Given the description of an element on the screen output the (x, y) to click on. 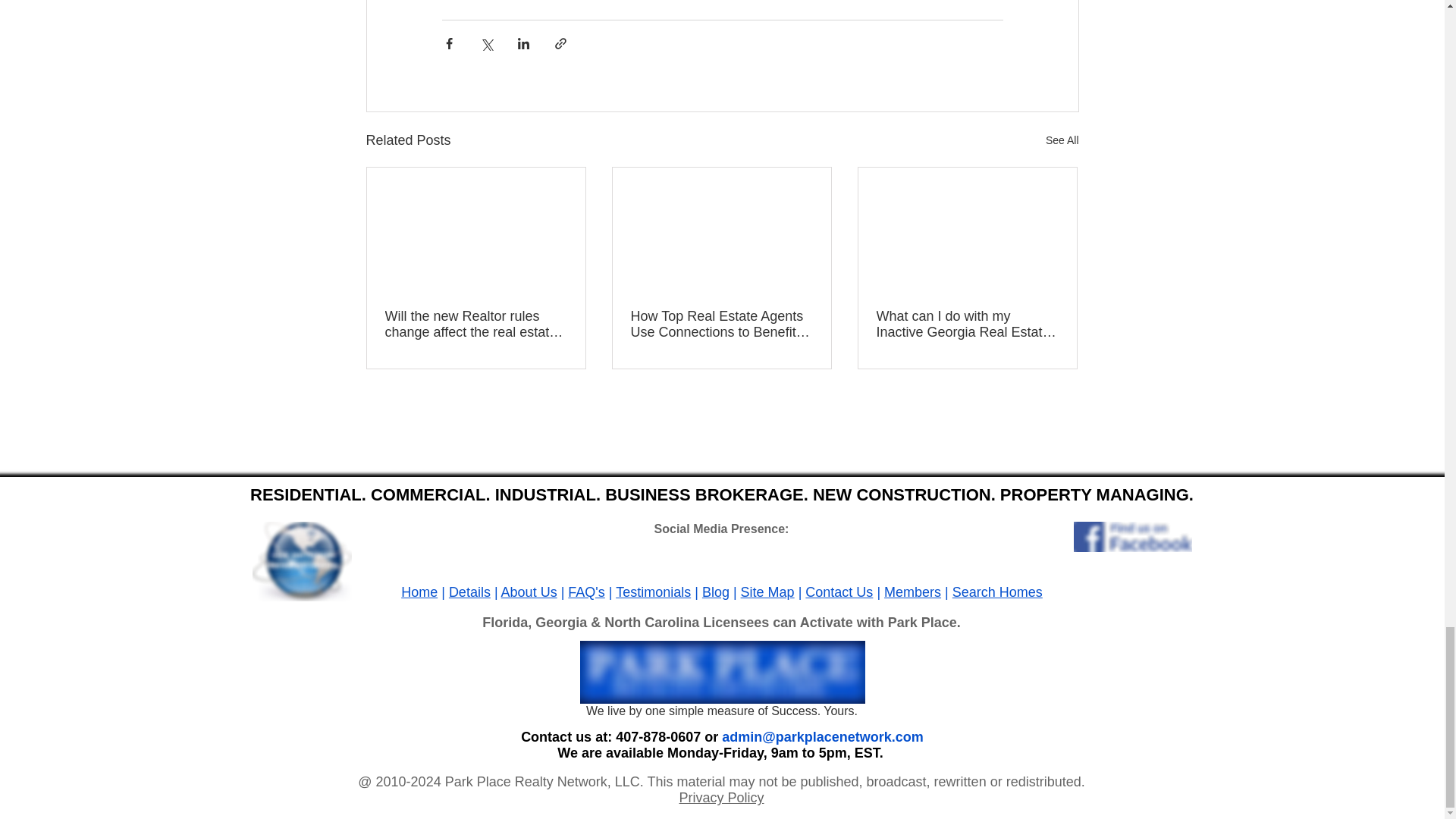
Details (469, 591)
FAQ's (585, 591)
Home (419, 591)
Testimonials (652, 591)
Blog (715, 591)
About Us (528, 591)
What can I do with my Inactive Georgia Real Estate License? (967, 324)
See All (1061, 140)
